Given the description of an element on the screen output the (x, y) to click on. 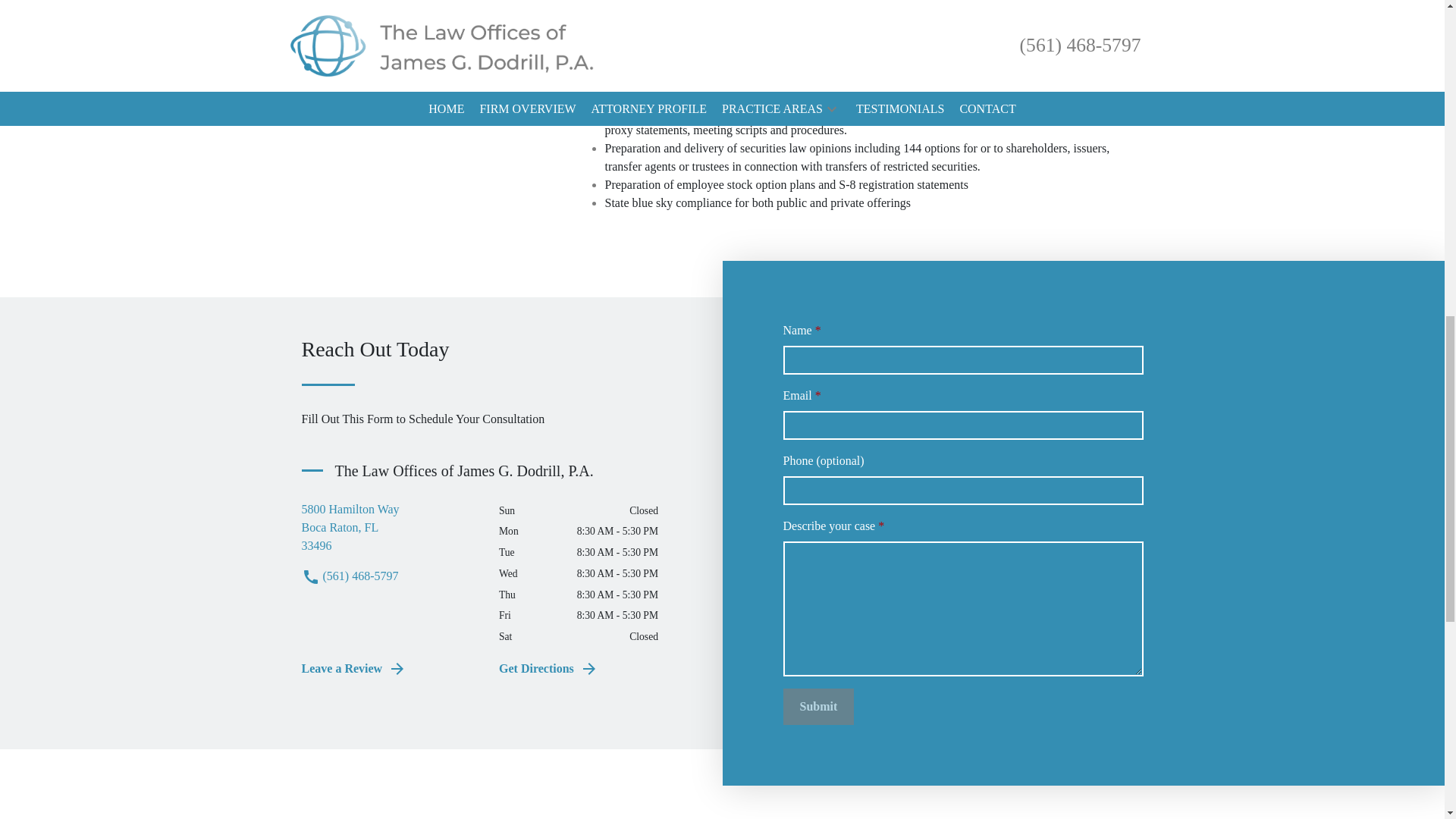
Leave a Review (389, 669)
GET SUPPORT TODAY (389, 527)
Get Directions (865, 15)
Submit (586, 669)
